Given the description of an element on the screen output the (x, y) to click on. 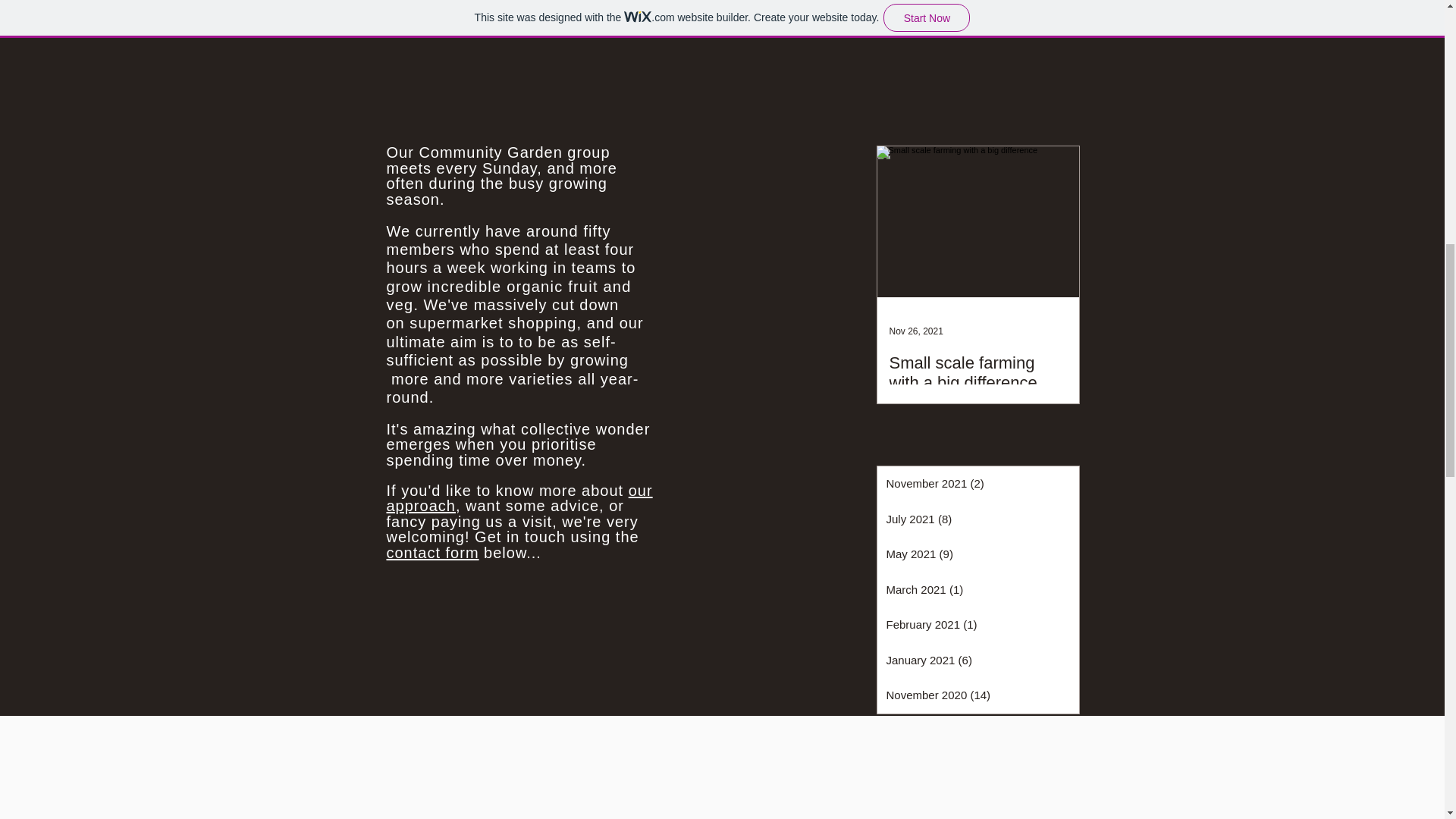
contact form (433, 552)
Nov 26, 2021 (915, 330)
our approach (519, 498)
Small scale farming with a big difference (976, 372)
